Given the description of an element on the screen output the (x, y) to click on. 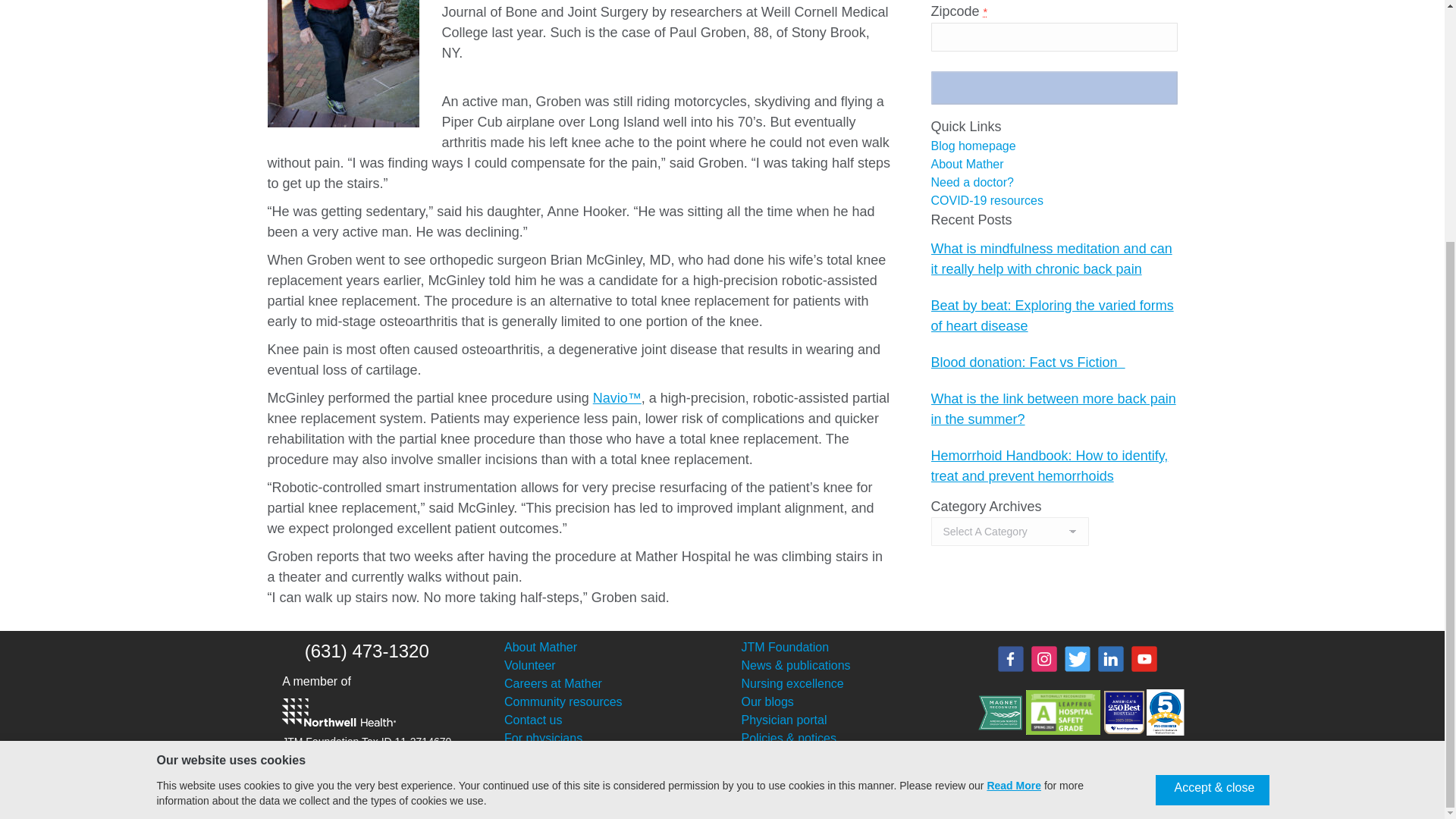
Sign up (1054, 87)
